Given the description of an element on the screen output the (x, y) to click on. 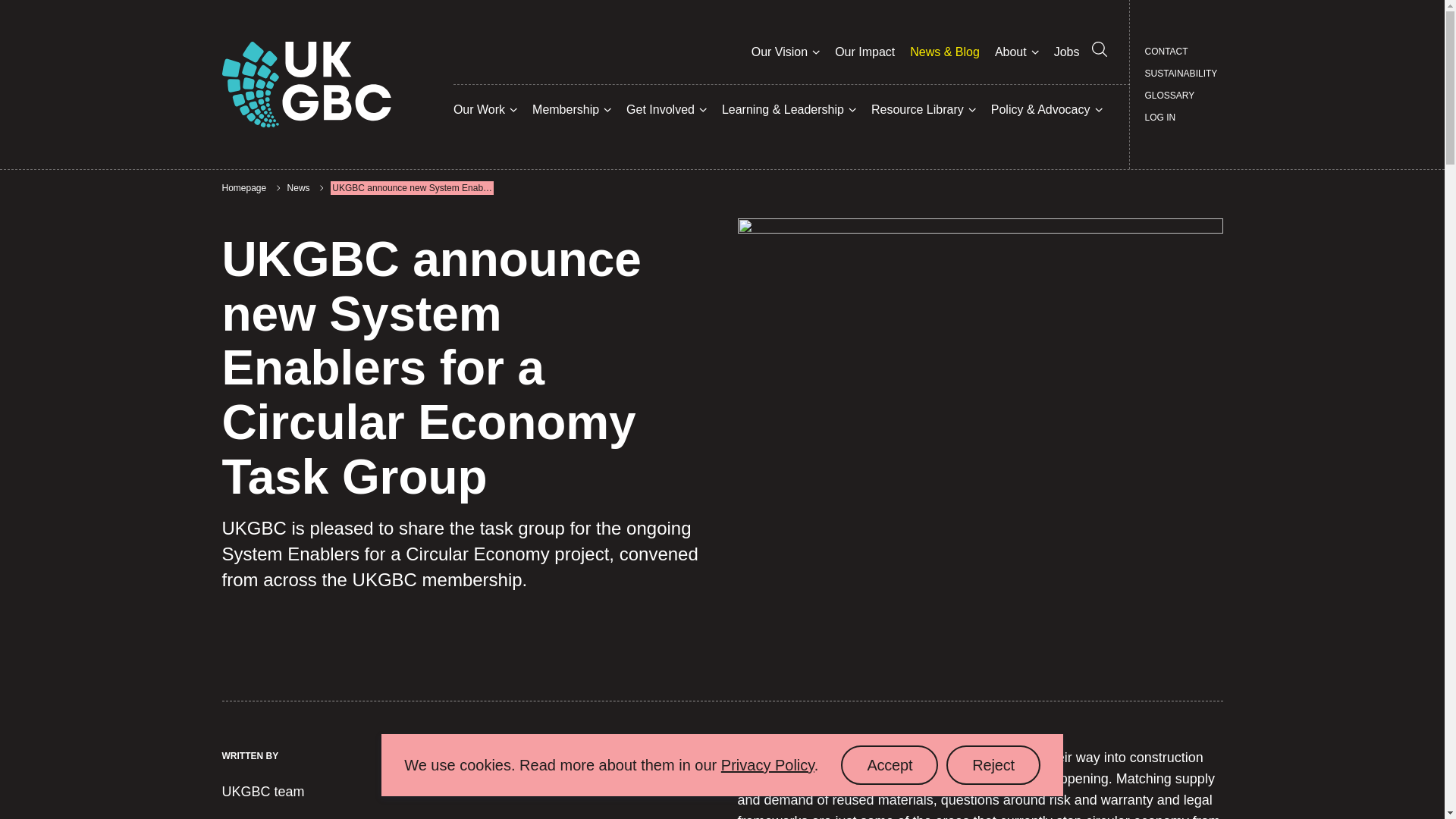
Our Impact (864, 52)
SUSTAINABILITY (1180, 73)
CONTACT (1166, 51)
Privacy Policy (889, 764)
News (766, 764)
GLOSSARY (298, 187)
Our Vision (1169, 95)
About (779, 52)
Get Involved (1010, 52)
Our Work (660, 109)
Homepage (993, 764)
LOG IN (478, 109)
Resource Library (243, 187)
